Given the description of an element on the screen output the (x, y) to click on. 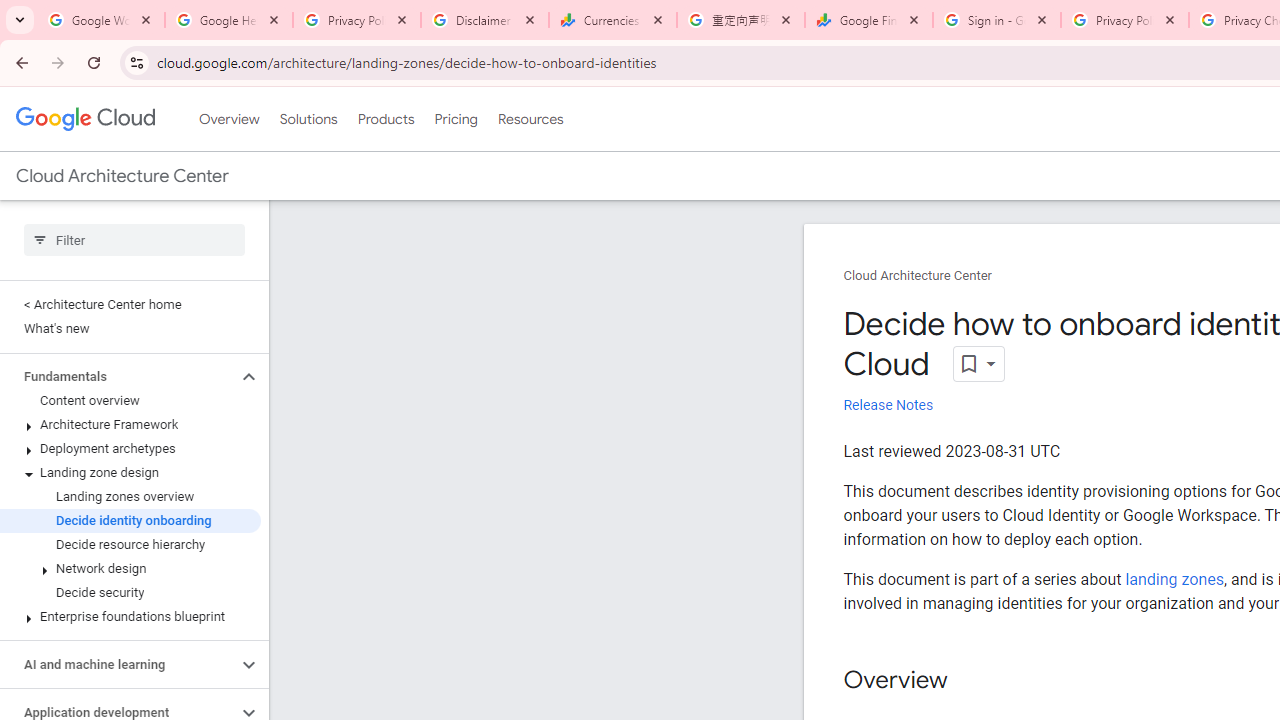
Google Cloud (84, 118)
Pricing (455, 119)
Landing zone design (130, 472)
Fundamentals (118, 376)
Architecture Framework (130, 425)
Decide security (130, 592)
Landing zones overview (130, 497)
Resources (530, 119)
Copy link to this section: Overview (967, 681)
Currencies - Google Finance (613, 20)
Decide identity onboarding (130, 520)
